Given the description of an element on the screen output the (x, y) to click on. 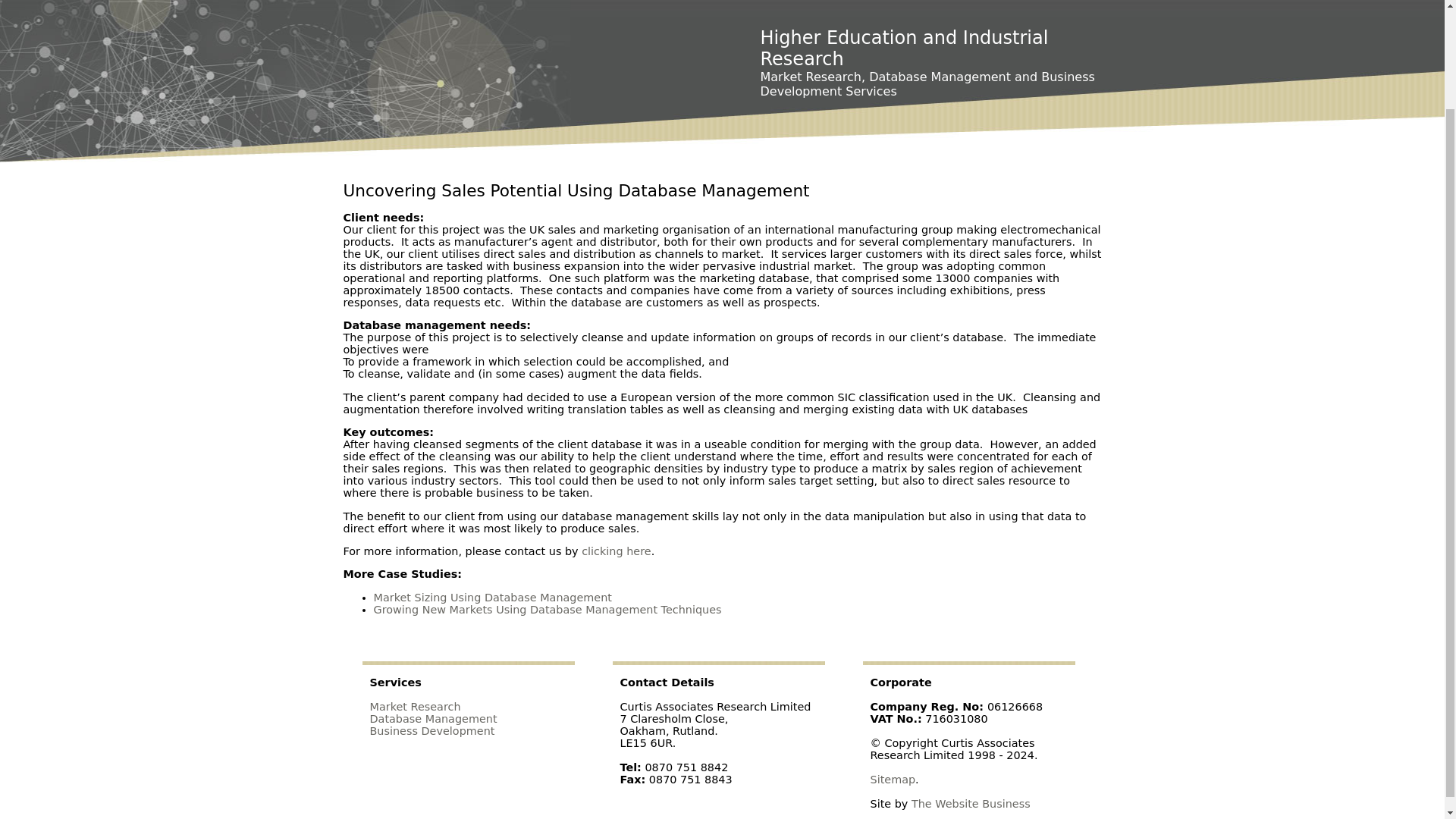
Database Management (433, 718)
Growing New Markets Using Database Management Techniques (546, 609)
Growing New Markets Using Database Management Techniques (546, 609)
Market Sizing Using Database Management (491, 597)
The Website Business (970, 803)
clicking here (615, 551)
Contact us (615, 551)
Sitemap (892, 779)
Business Development (432, 730)
Market Sizing Using Database Management (491, 597)
